Given the description of an element on the screen output the (x, y) to click on. 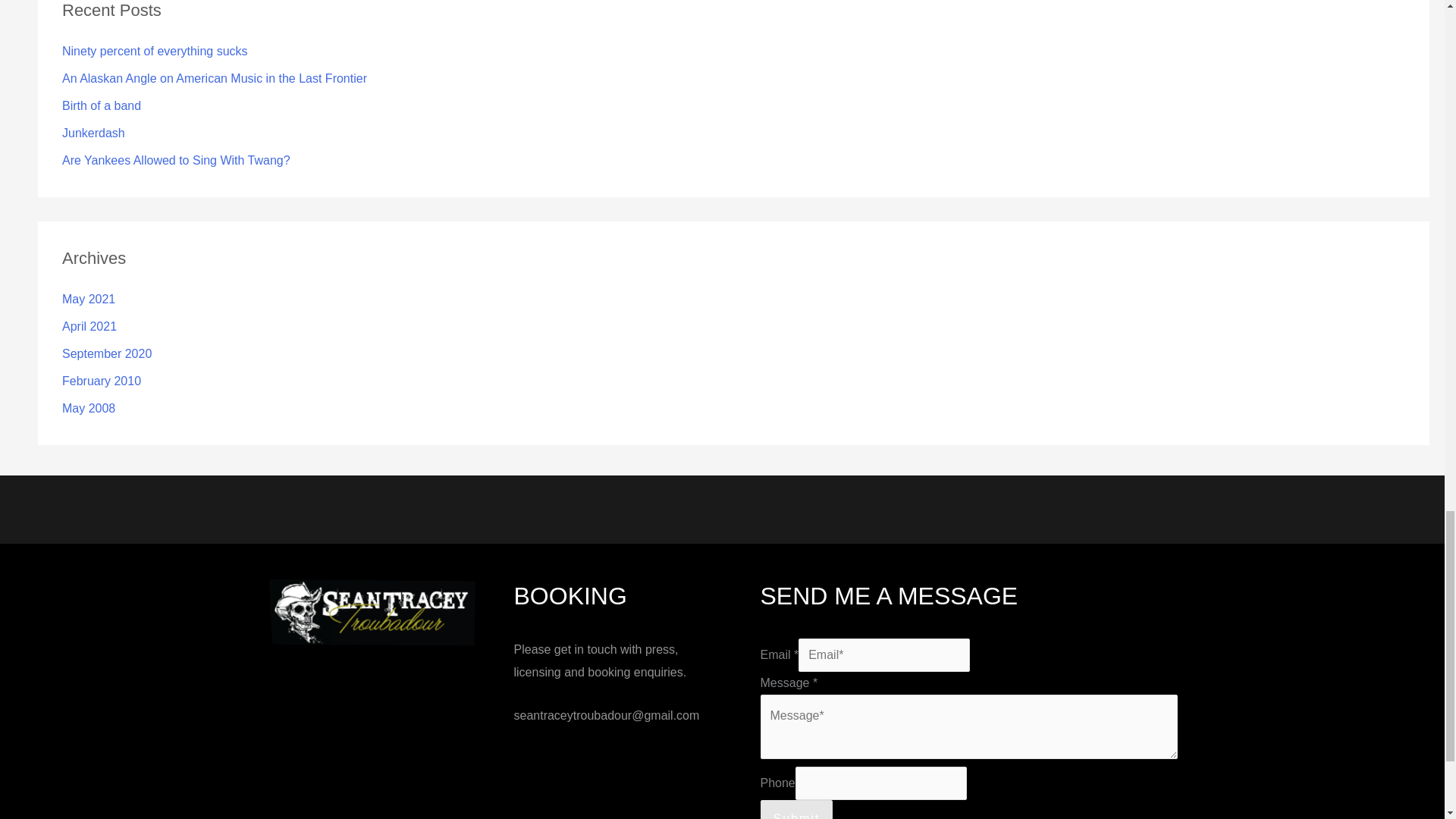
Ninety percent of everything sucks (154, 51)
Are Yankees Allowed to Sing With Twang? (175, 160)
Birth of a band (101, 105)
April 2021 (89, 326)
May 2021 (88, 298)
An Alaskan Angle on American Music in the Last Frontier (214, 78)
Junkerdash (93, 132)
